Given the description of an element on the screen output the (x, y) to click on. 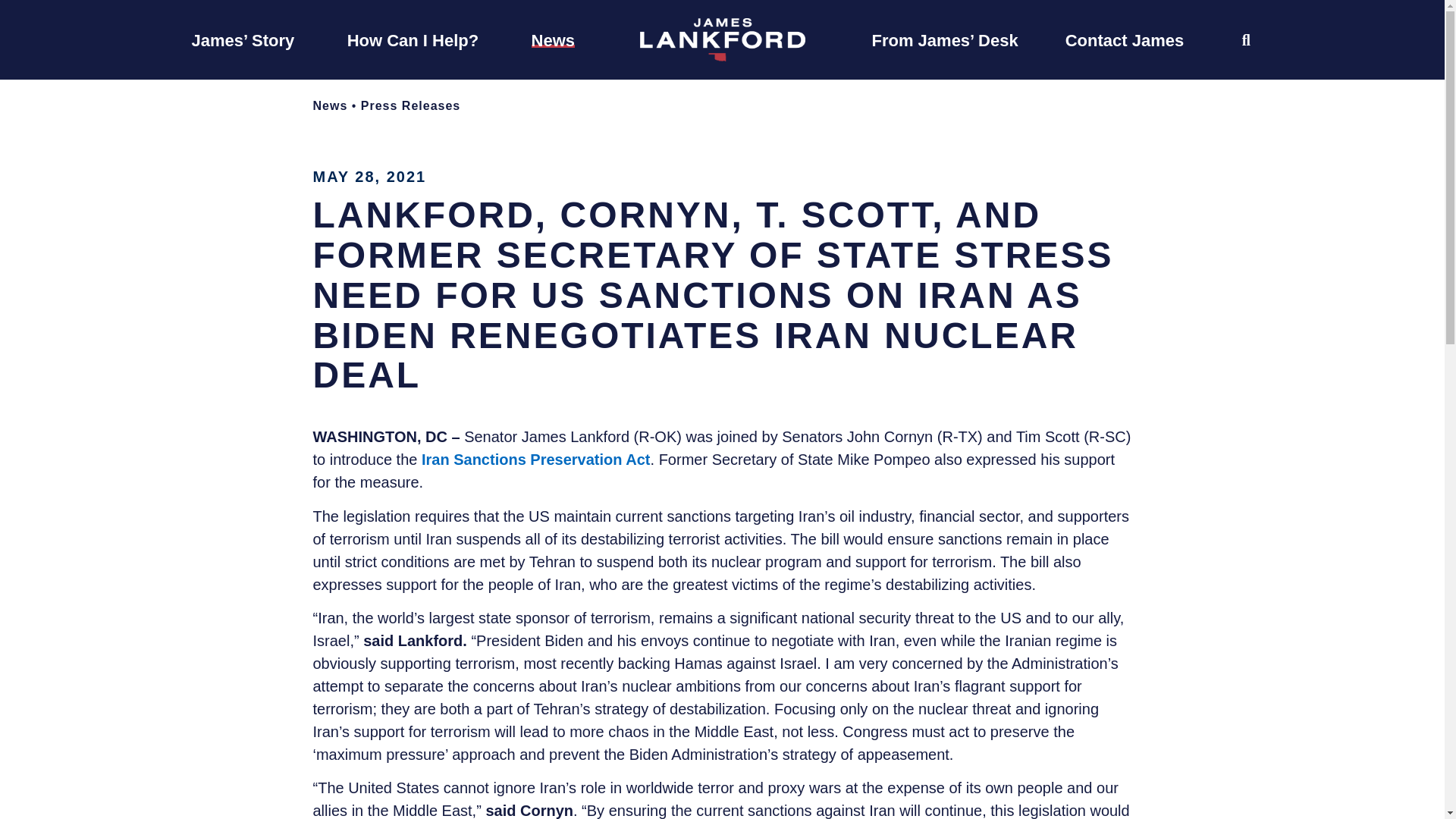
How Can I Help? (413, 38)
Contact James (1125, 38)
News (553, 38)
OPEN SEARCH (1246, 38)
